Given the description of an element on the screen output the (x, y) to click on. 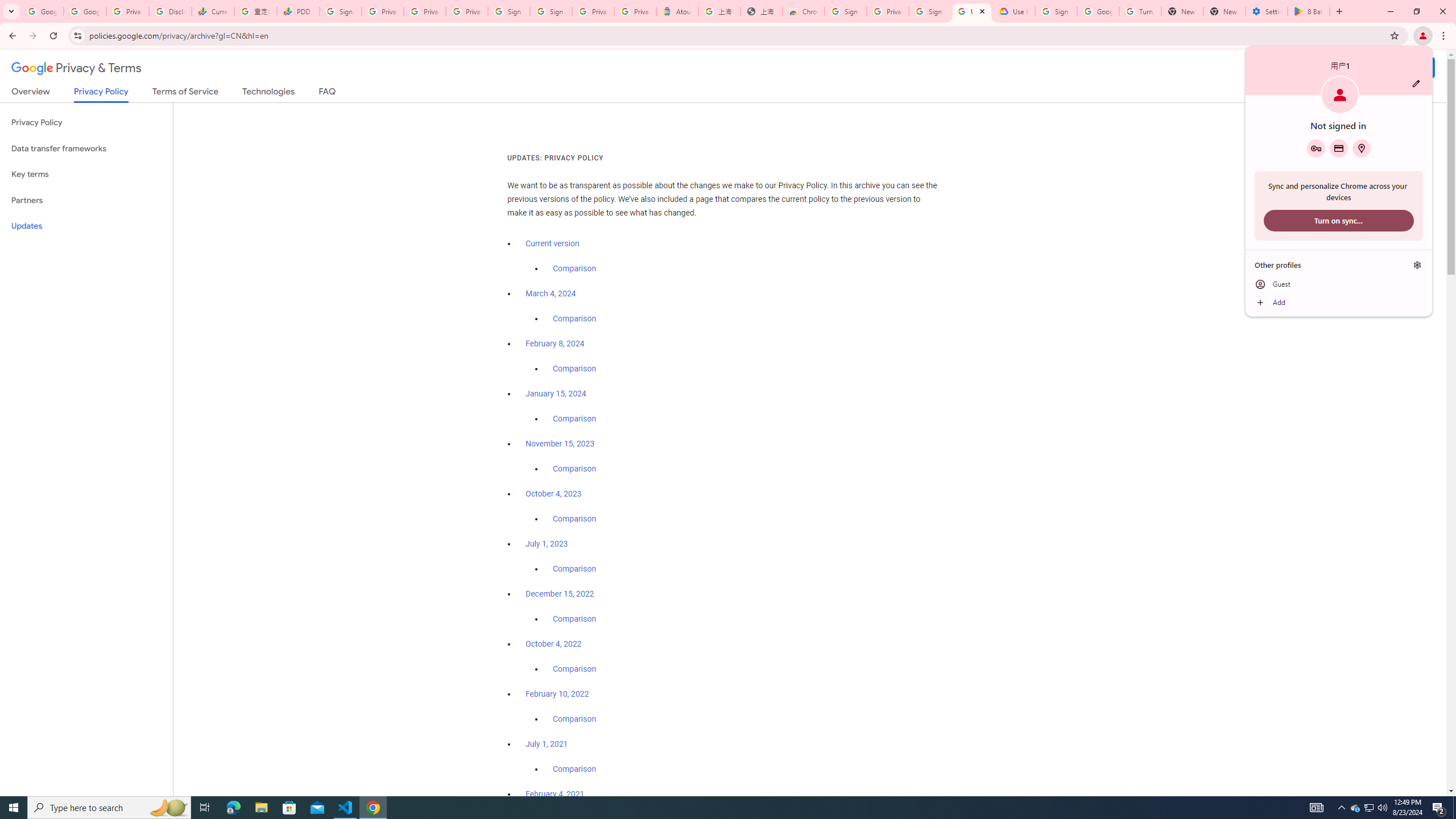
Addresses and more (1361, 148)
Microsoft Store (289, 807)
Key terms (86, 174)
Task View (204, 807)
Data transfer frameworks (86, 148)
Notification Chevron (1341, 807)
Google Workspace Admin Community (42, 11)
November 15, 2023 (560, 443)
Settings - System (1266, 11)
Sign in - Google Accounts (1055, 11)
